Given the description of an element on the screen output the (x, y) to click on. 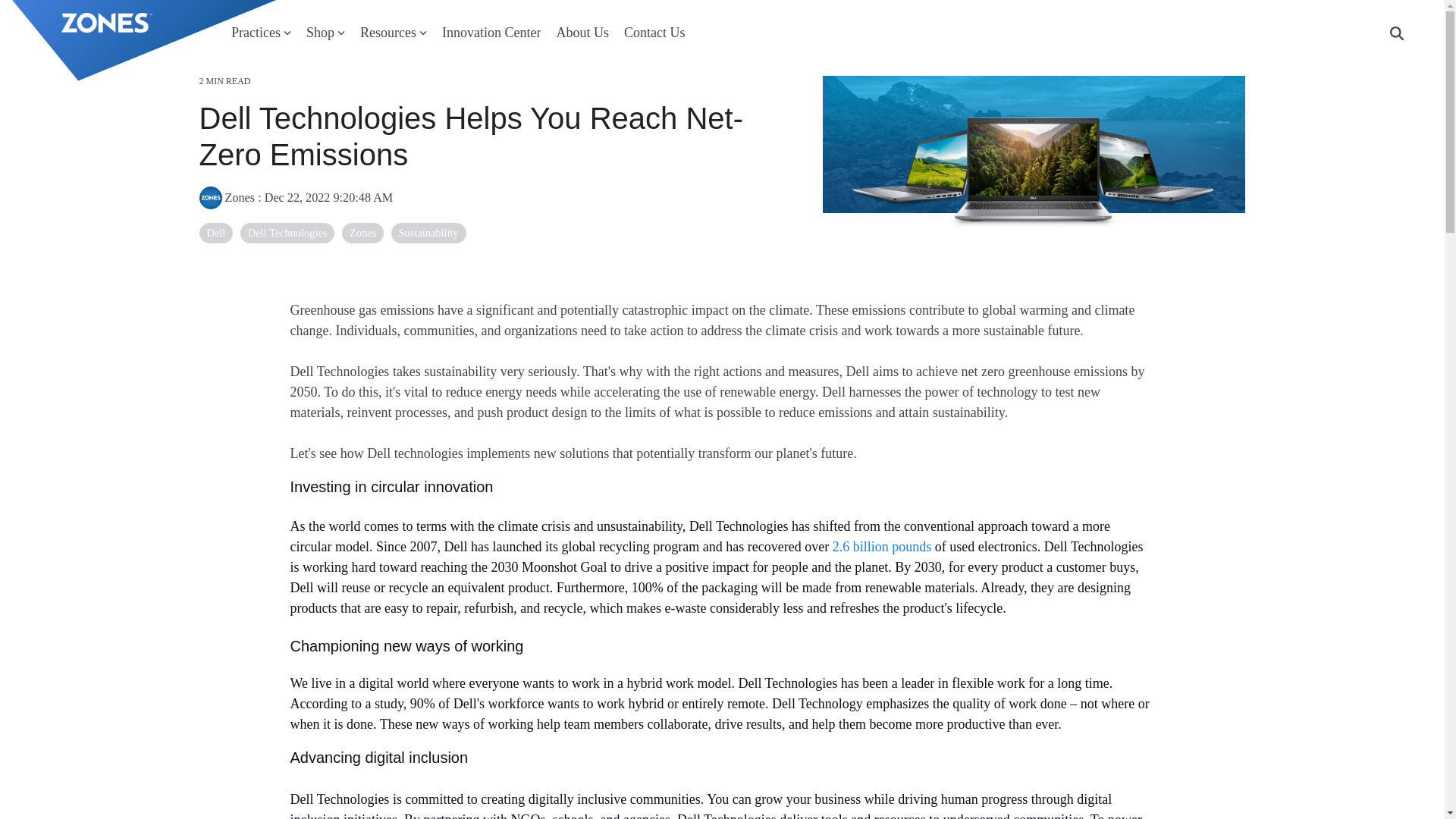
Zones Logo White PNG (106, 22)
Practices (261, 32)
Shop (325, 32)
